Given the description of an element on the screen output the (x, y) to click on. 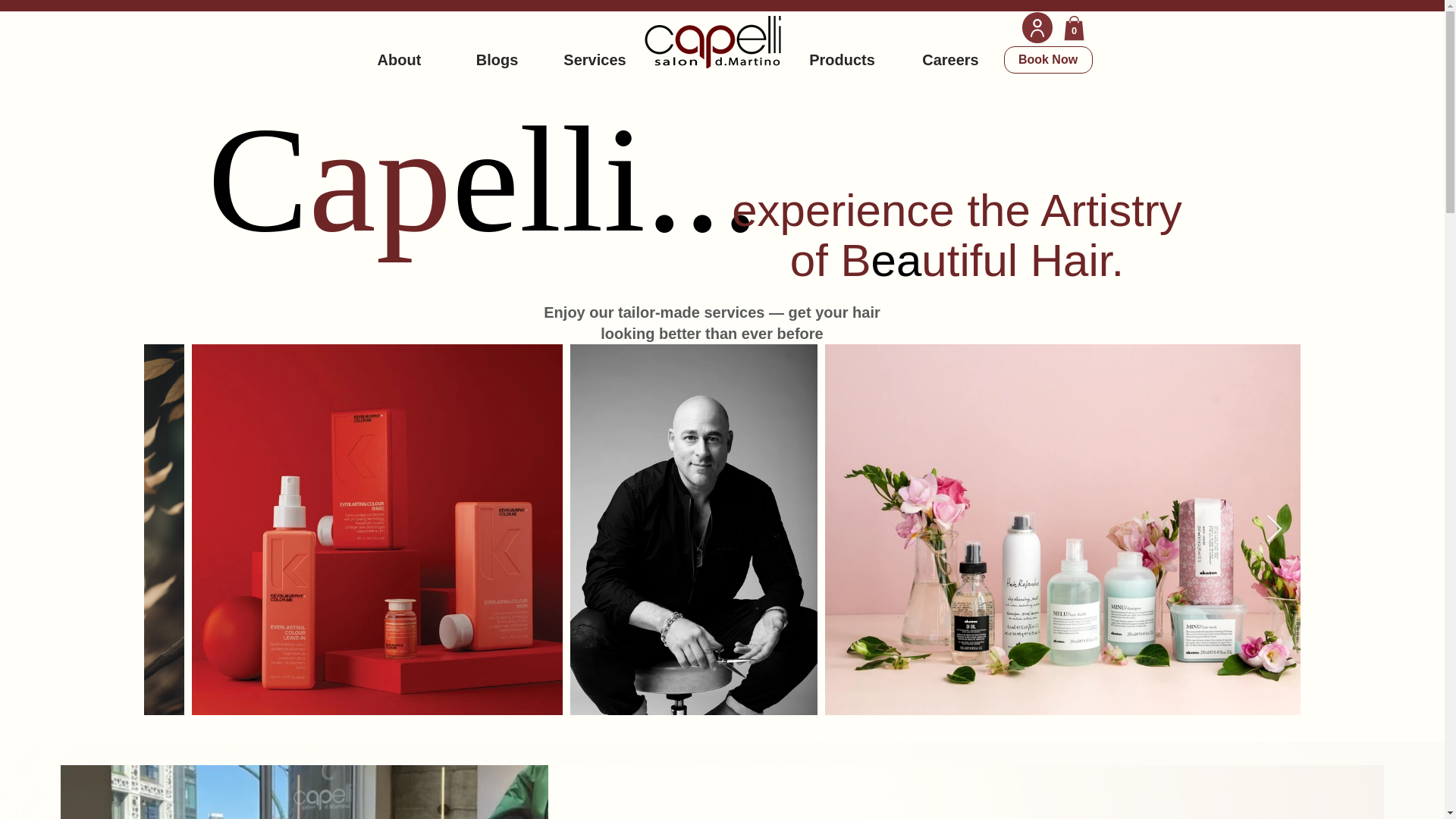
About (399, 59)
Products (842, 59)
Services (595, 59)
Blogs (496, 59)
Capelli Logo (712, 41)
Careers (949, 59)
Book Now (1048, 59)
